Given the description of an element on the screen output the (x, y) to click on. 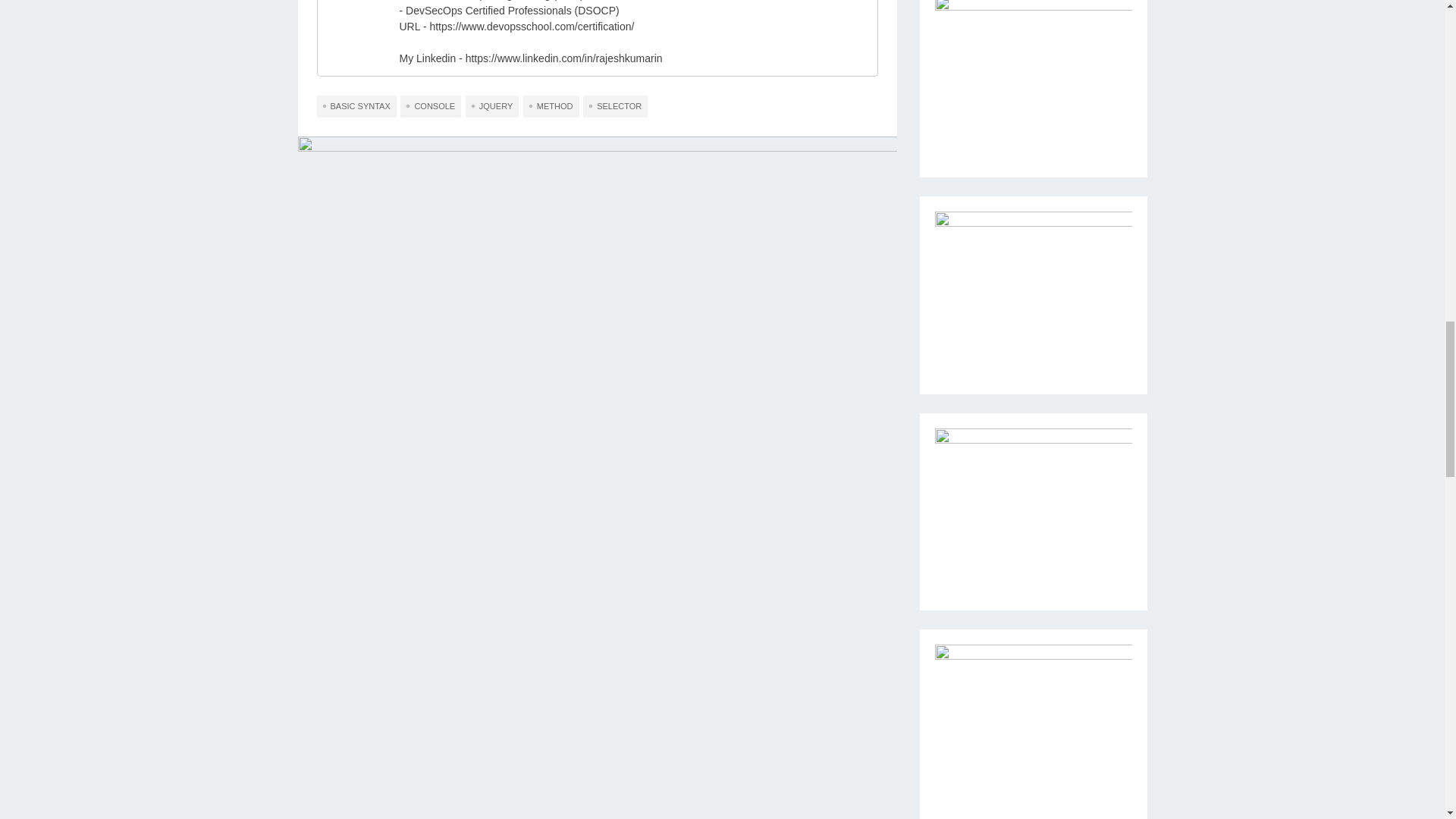
SELECTOR (615, 106)
BASIC SYNTAX (356, 106)
CONSOLE (430, 106)
METHOD (550, 106)
JQUERY (491, 106)
